Given the description of an element on the screen output the (x, y) to click on. 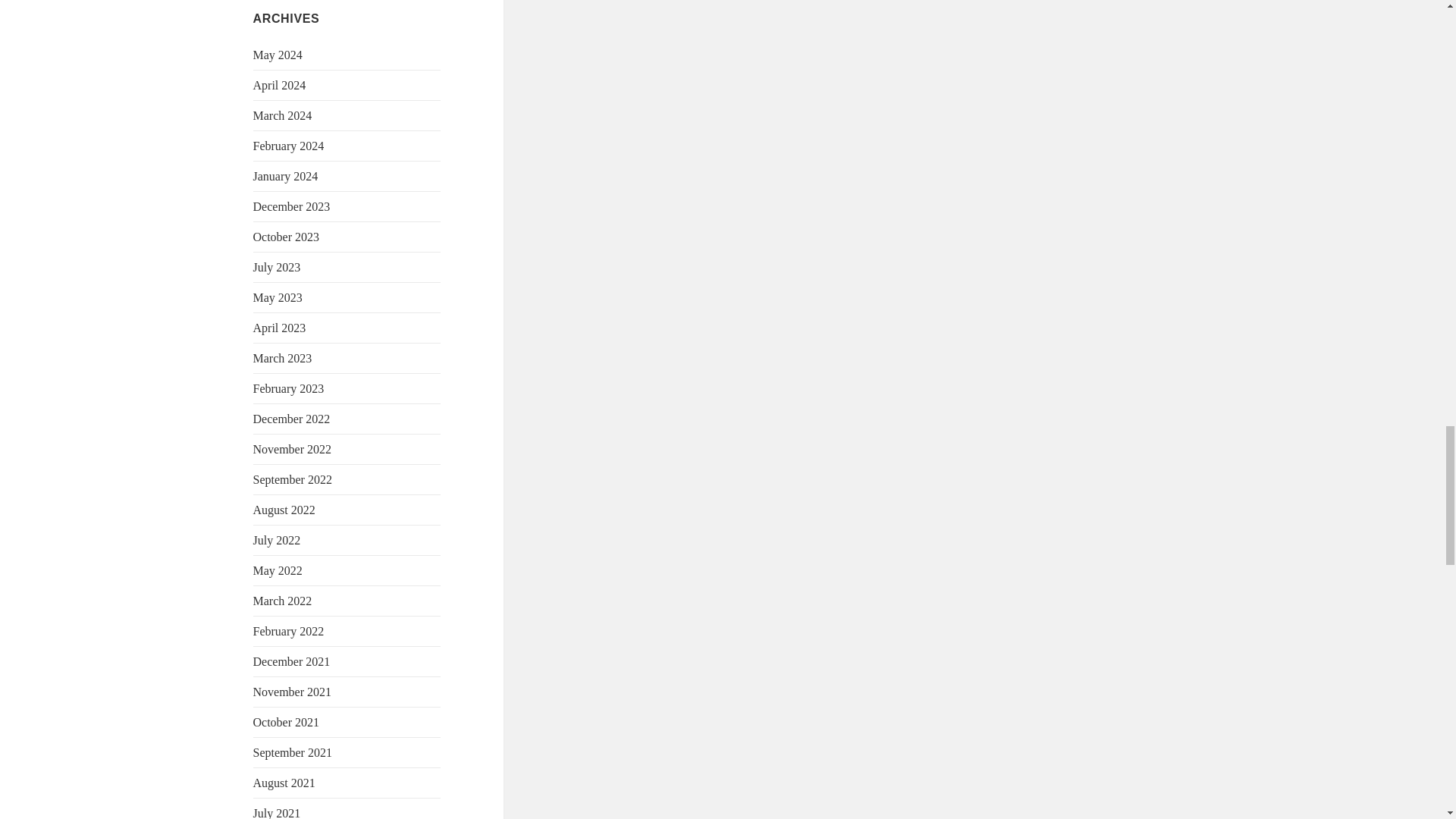
March 2023 (283, 358)
December 2023 (291, 205)
July 2022 (277, 540)
March 2024 (283, 115)
November 2022 (292, 449)
May 2023 (277, 297)
May 2024 (277, 54)
January 2024 (285, 175)
July 2023 (277, 267)
February 2022 (288, 631)
